Given the description of an element on the screen output the (x, y) to click on. 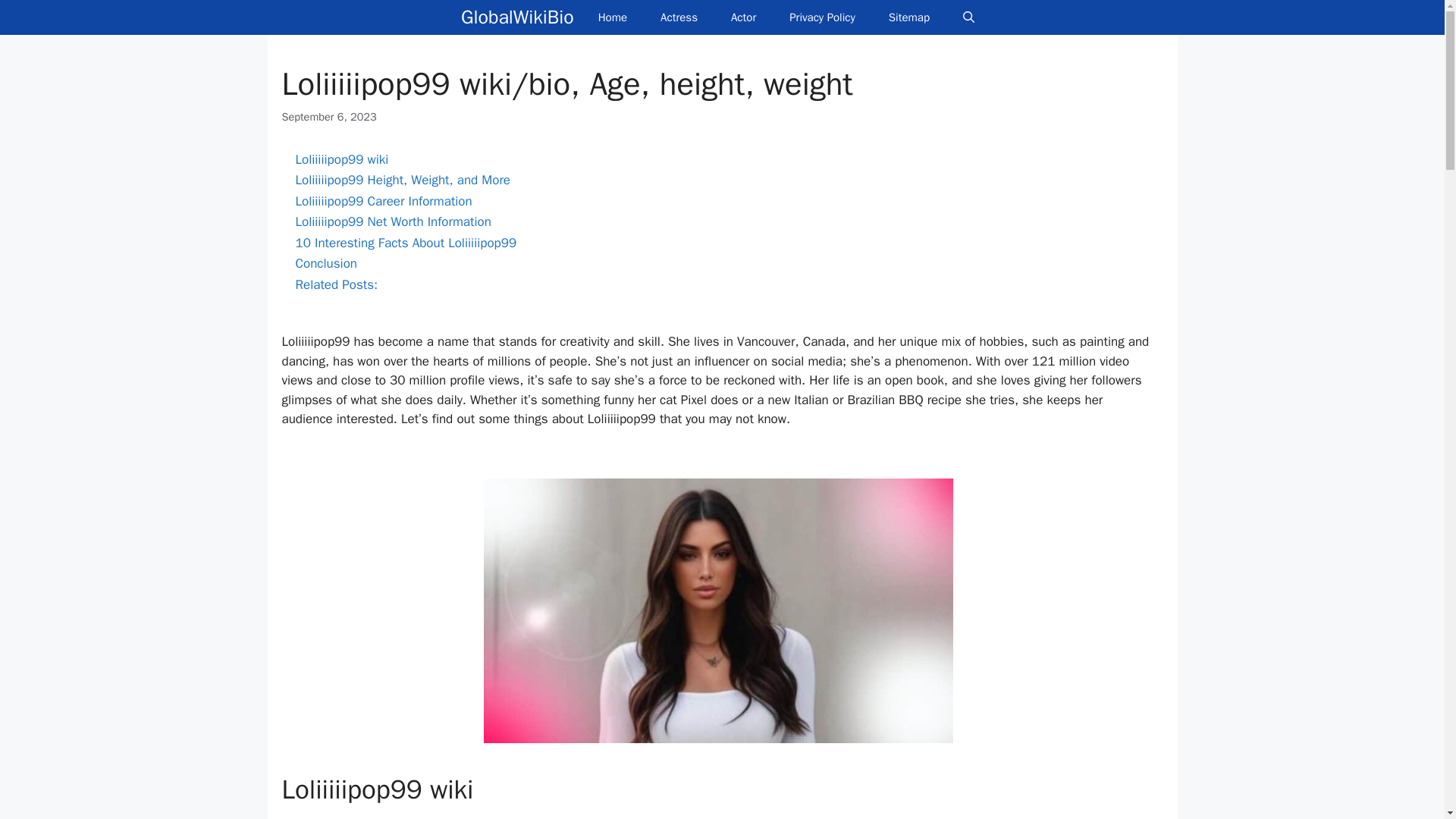
Loliiiiipop99 Height, Weight, and More (403, 179)
Actor (743, 17)
Sitemap (909, 17)
Related Posts: (336, 284)
Loliiiiipop99 Net Worth Information (393, 221)
Privacy Policy (822, 17)
Loliiiiipop99 Career Information (383, 201)
10 Interesting Facts About Loliiiiipop99 (405, 242)
GlobalWikiBio (517, 17)
Home (611, 17)
